Given the description of an element on the screen output the (x, y) to click on. 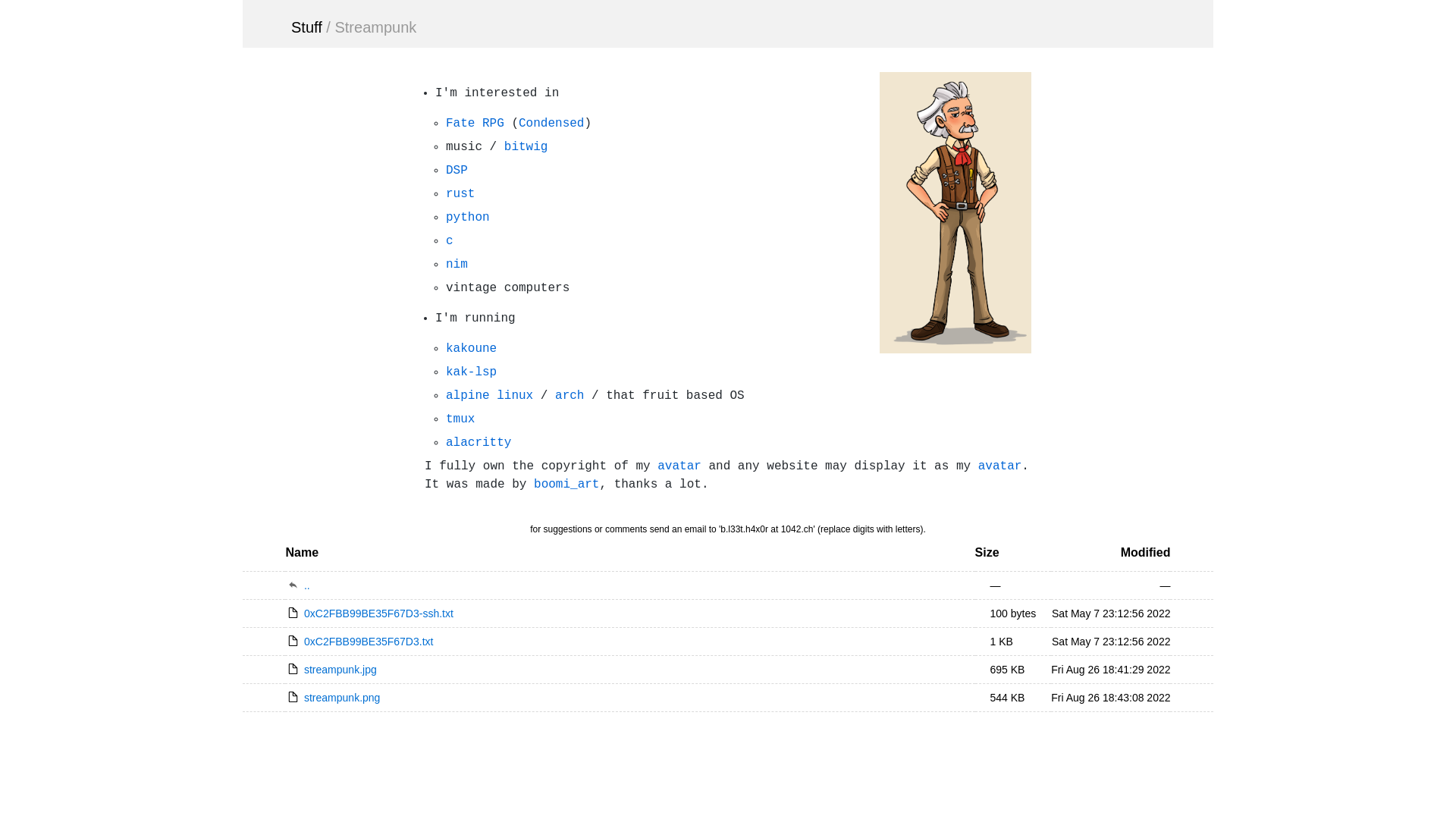
nim Element type: text (456, 264)
kak-lsp Element type: text (470, 372)
DSP Element type: text (456, 170)
tmux Element type: text (459, 419)
alpine linux Element type: text (489, 395)
arch Element type: text (569, 395)
avatar Element type: text (1000, 466)
c Element type: text (449, 240)
Stuff Element type: text (306, 26)
rust Element type: text (459, 193)
streampunk.jpg Element type: text (330, 669)
0xC2FBB99BE35F67D3-ssh.txt Element type: text (368, 613)
Fate RPG Element type: text (474, 123)
kakoune Element type: text (470, 348)
boomi_art Element type: text (566, 484)
avatar Element type: text (679, 466)
streampunk.png Element type: text (332, 697)
python Element type: text (467, 217)
bitwig Element type: text (526, 146)
Condensed Element type: text (550, 123)
alacritty Element type: text (478, 442)
0xC2FBB99BE35F67D3.txt Element type: text (359, 641)
.. Element type: text (629, 585)
